Given the description of an element on the screen output the (x, y) to click on. 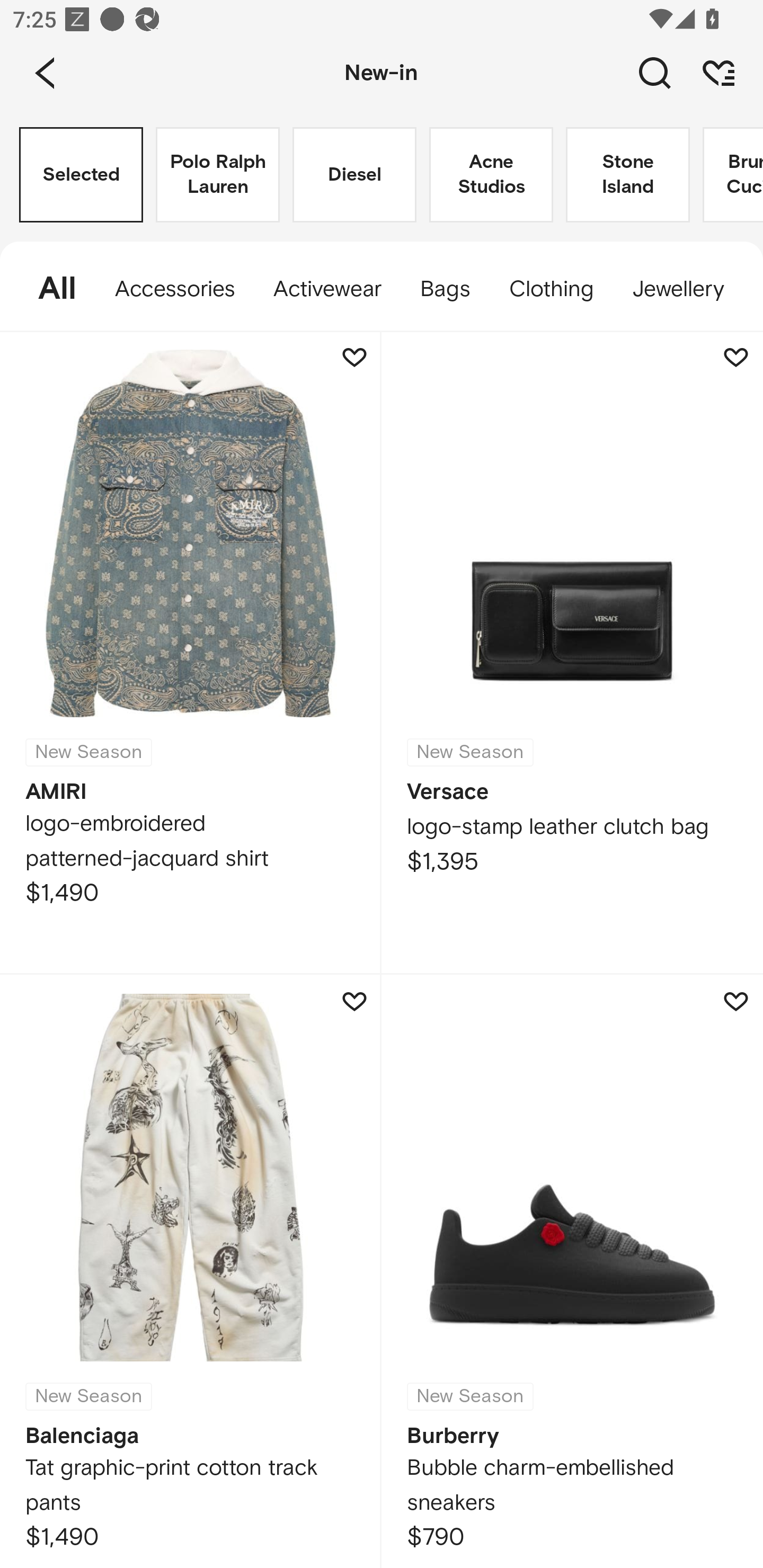
Selected (81, 174)
Polo Ralph Lauren (217, 174)
Diesel (354, 174)
Acne Studios (490, 174)
Stone Island (627, 174)
All (47, 289)
Accessories (174, 289)
Activewear (327, 289)
Bags (445, 289)
Clothing (550, 289)
Jewellery (677, 289)
